Given the description of an element on the screen output the (x, y) to click on. 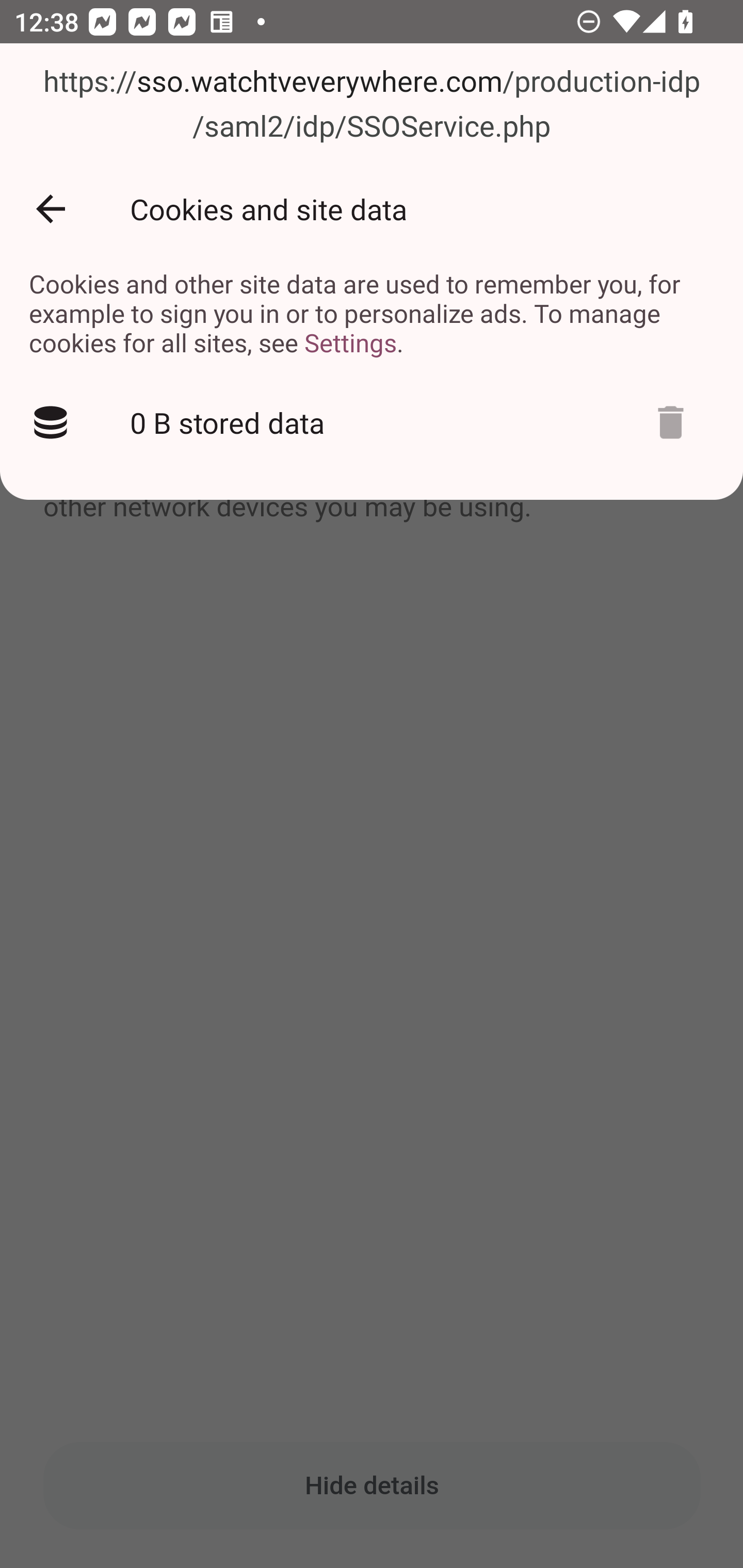
Back (50, 209)
0 B stored data Delete cookies? (371, 421)
